Given the description of an element on the screen output the (x, y) to click on. 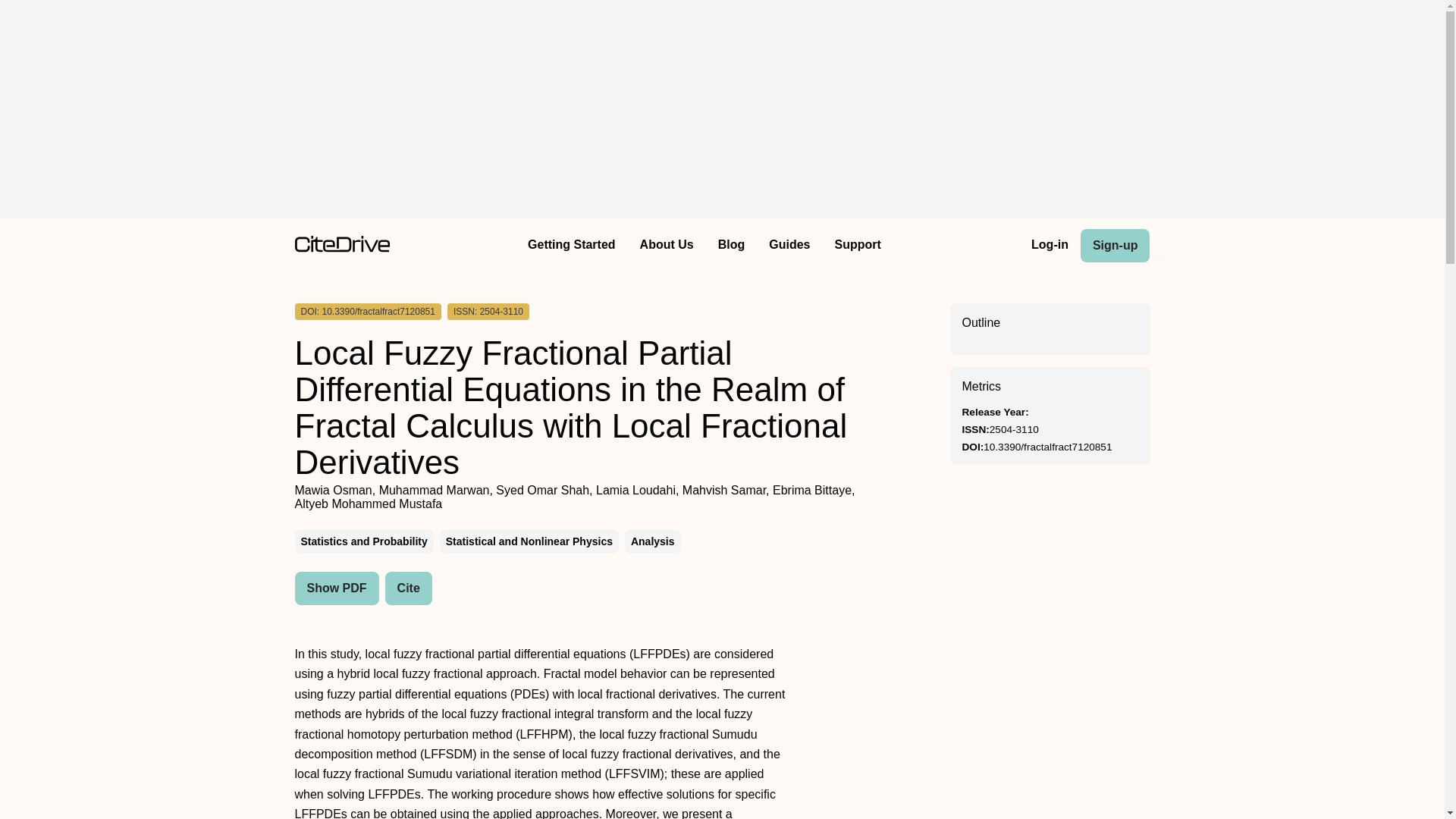
Guides (789, 245)
Show PDF (336, 588)
Log-in (1049, 245)
About Us (666, 245)
Blog (731, 245)
Getting Started (571, 245)
Sign-up (1115, 245)
Support (857, 245)
Cite (408, 588)
